Given the description of an element on the screen output the (x, y) to click on. 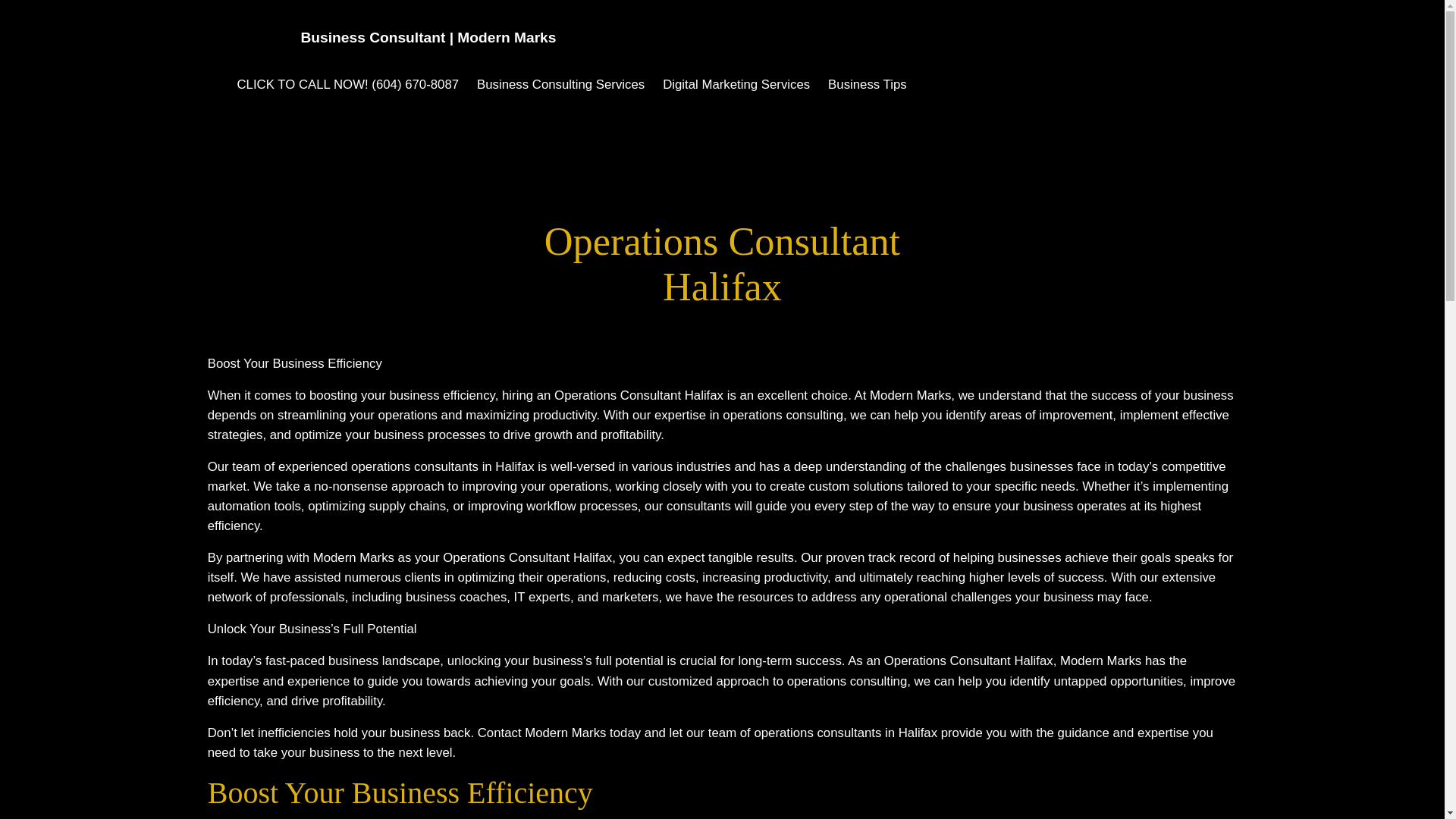
Business Tips (867, 85)
Business Consulting Services (561, 85)
Digital Marketing Services (735, 85)
